Given the description of an element on the screen output the (x, y) to click on. 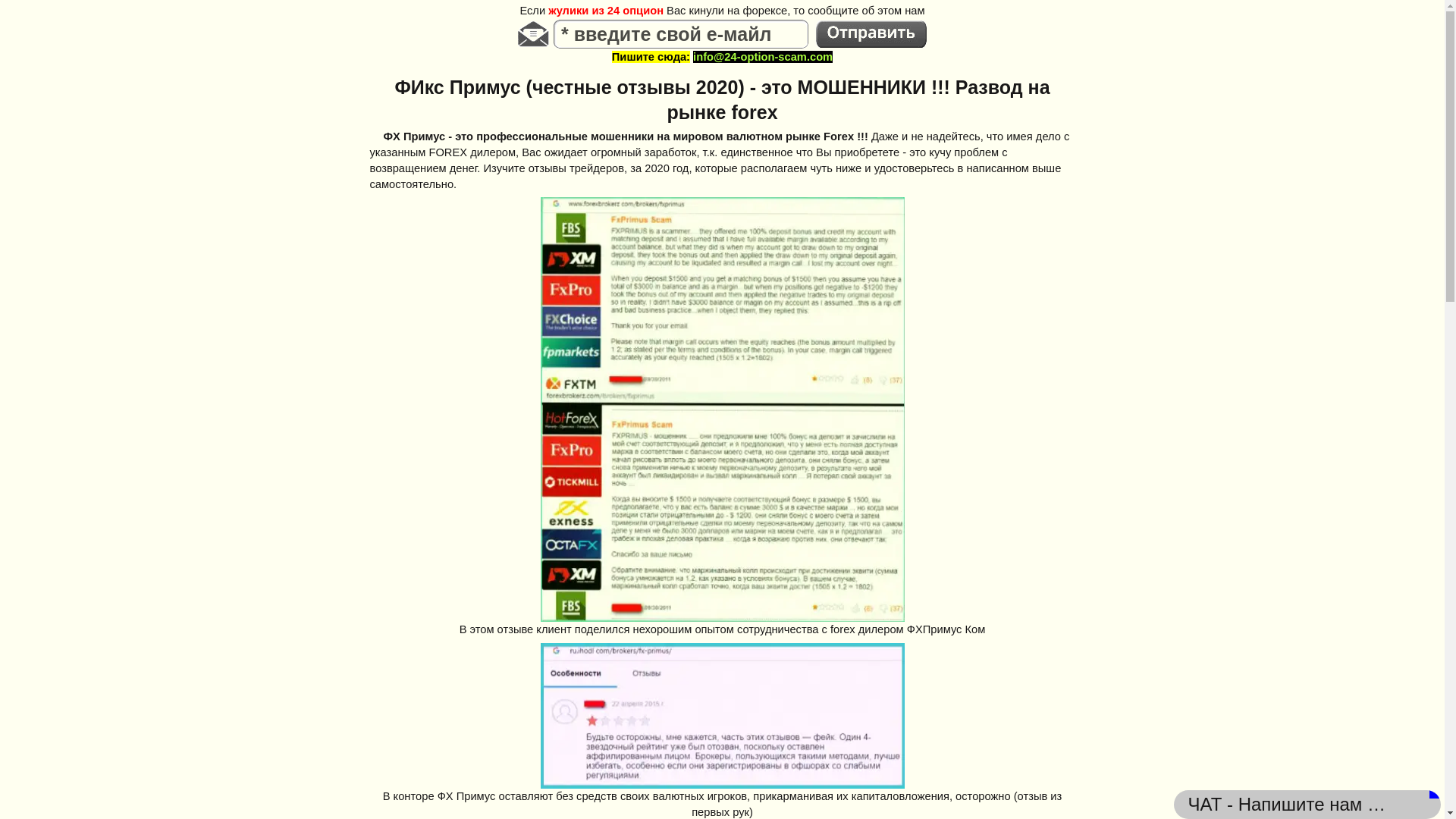
info@24-option-scam.com Element type: text (762, 56)
